Given the description of an element on the screen output the (x, y) to click on. 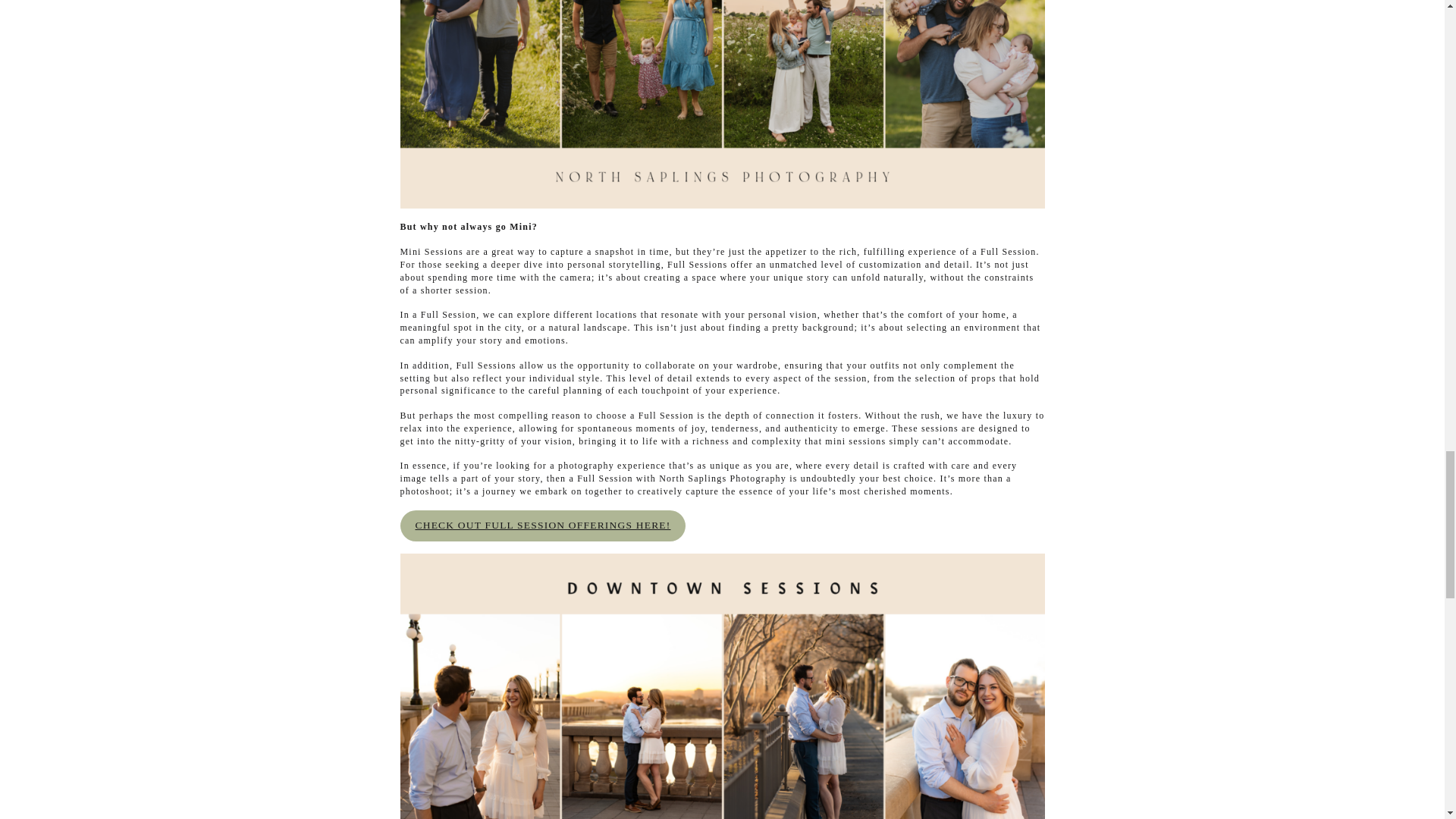
CHECK OUT FULL SESSION OFFERINGS HERE! (542, 525)
